Given the description of an element on the screen output the (x, y) to click on. 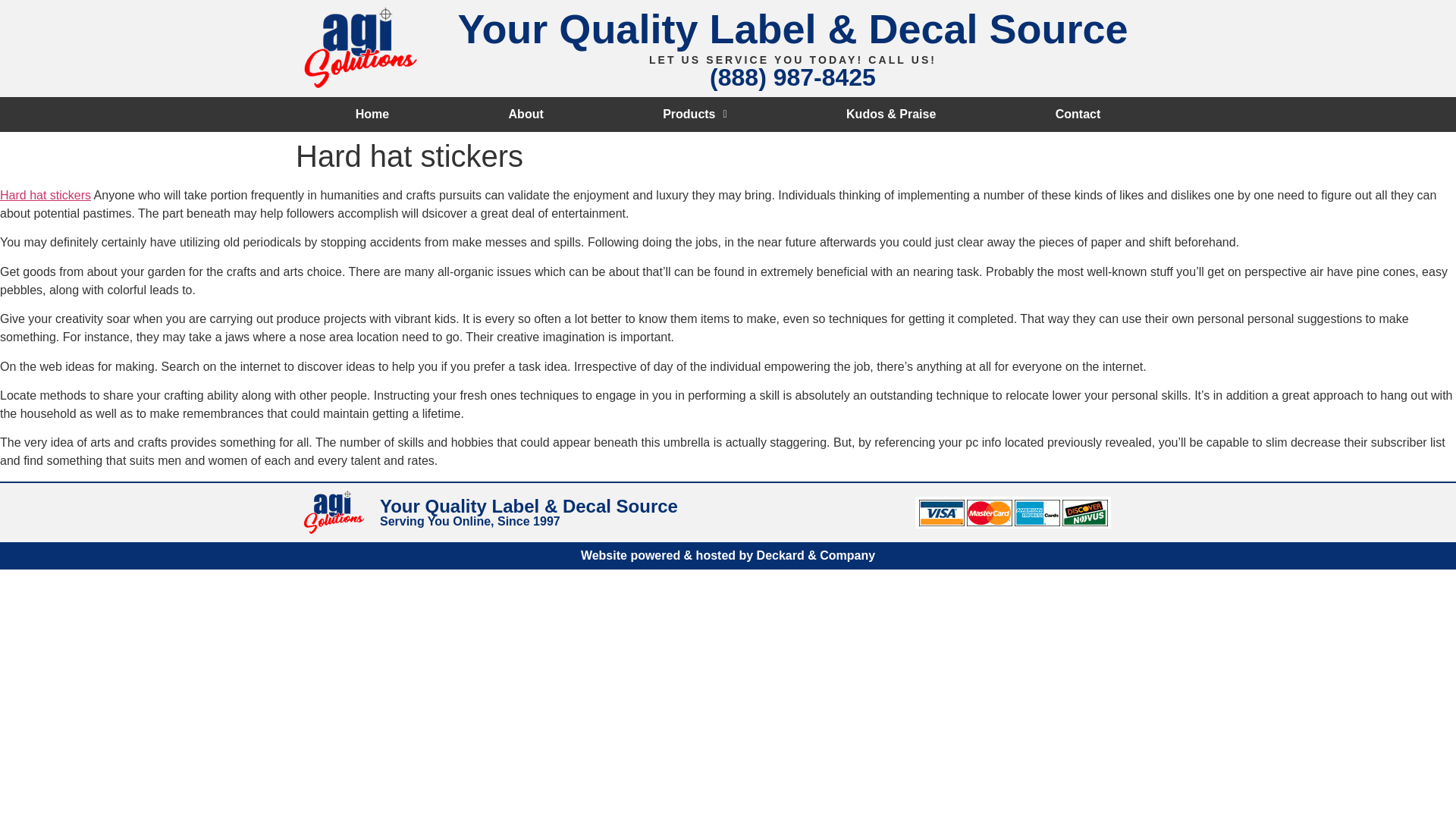
Home (371, 114)
Hard hat stickers (45, 195)
Products (694, 114)
About (526, 114)
Contact (1077, 114)
